Given the description of an element on the screen output the (x, y) to click on. 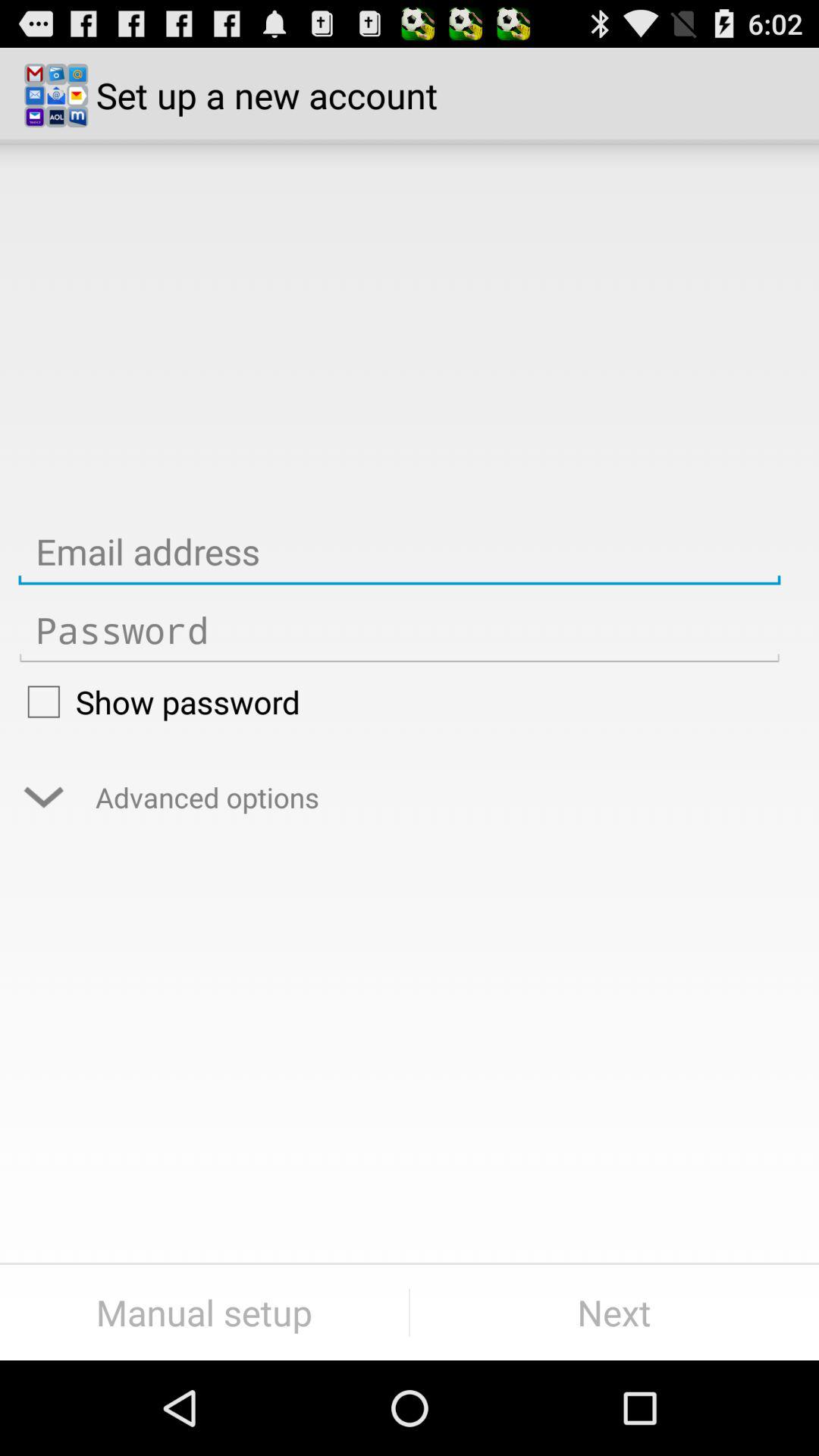
email address entry (399, 552)
